Given the description of an element on the screen output the (x, y) to click on. 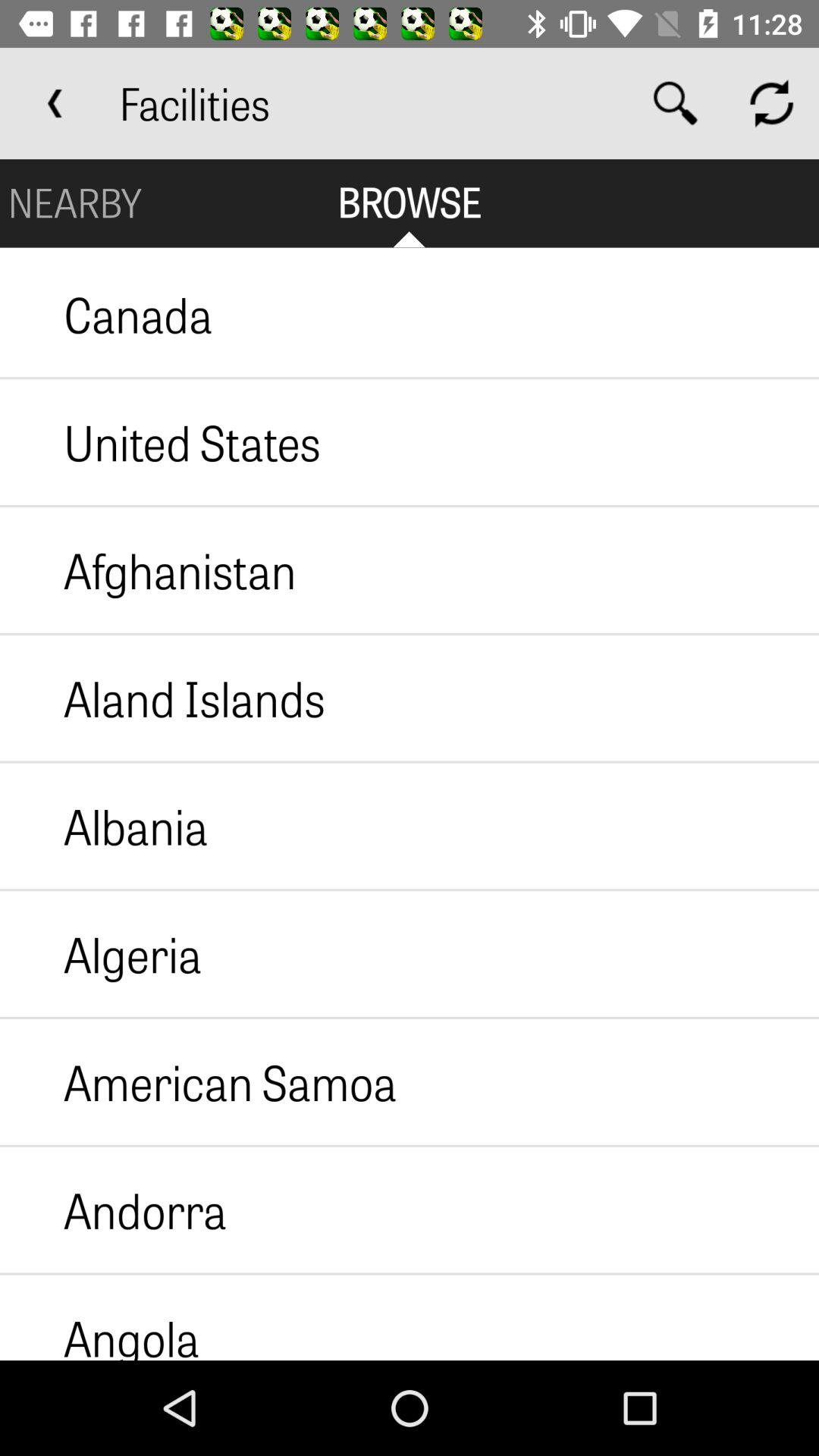
choose the canada (106, 314)
